Given the description of an element on the screen output the (x, y) to click on. 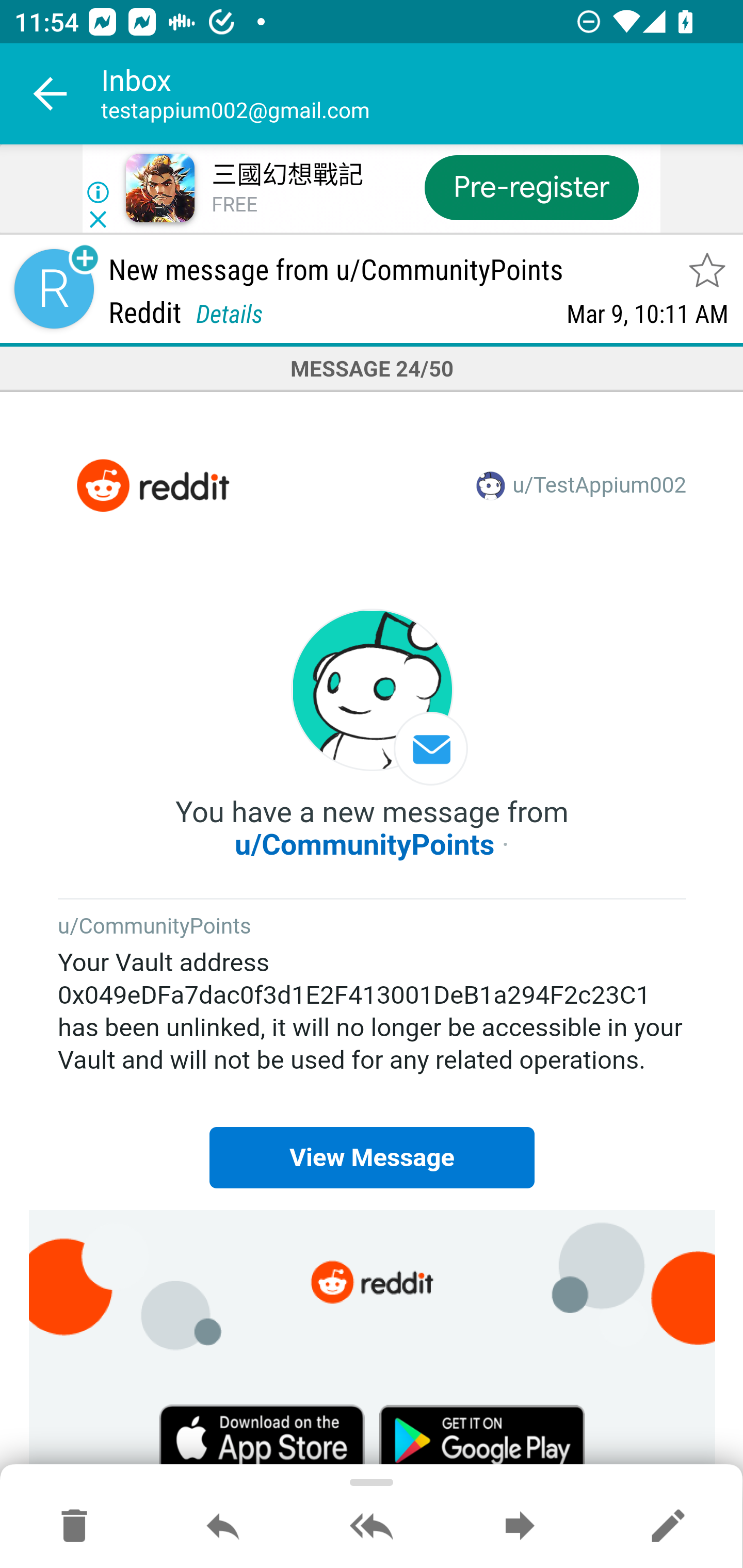
Navigate up (50, 93)
Inbox testappium002@gmail.com (422, 93)
Pre-register (530, 187)
三國幻想戰記 (287, 175)
Sender contact button (53, 289)
stf_2bQVGEViGYSLoH-p_cp8TnCmUzbskHpp7opWl8g=343 (151, 485)
u/TestAppium002 (599, 486)
k953CYlMaTwh0p01IfXylAjA30qx0TiRyAzDNki6bpM=343 (372, 697)
u/CommunityPoints (364, 844)
u/CommunityPoints (154, 927)
View Message (371, 1157)
UYHsm_VYdYvrX6v8bW6ZUcCFyZNFLLb_4kchyJ3FWK8=343 (372, 1280)
EujroCXblHV7QmxX79-wCVmdCKMOt7sjGo0fcibRsJE=343 (262, 1436)
8oSRNznEcjfFEz10hD0jhnDrjJg-CZ6zTGBo1DUIwDE=343 (481, 1436)
Move to Deleted (74, 1527)
Reply (222, 1527)
Reply all (371, 1527)
Forward (519, 1527)
Reply as new (667, 1527)
